Given the description of an element on the screen output the (x, y) to click on. 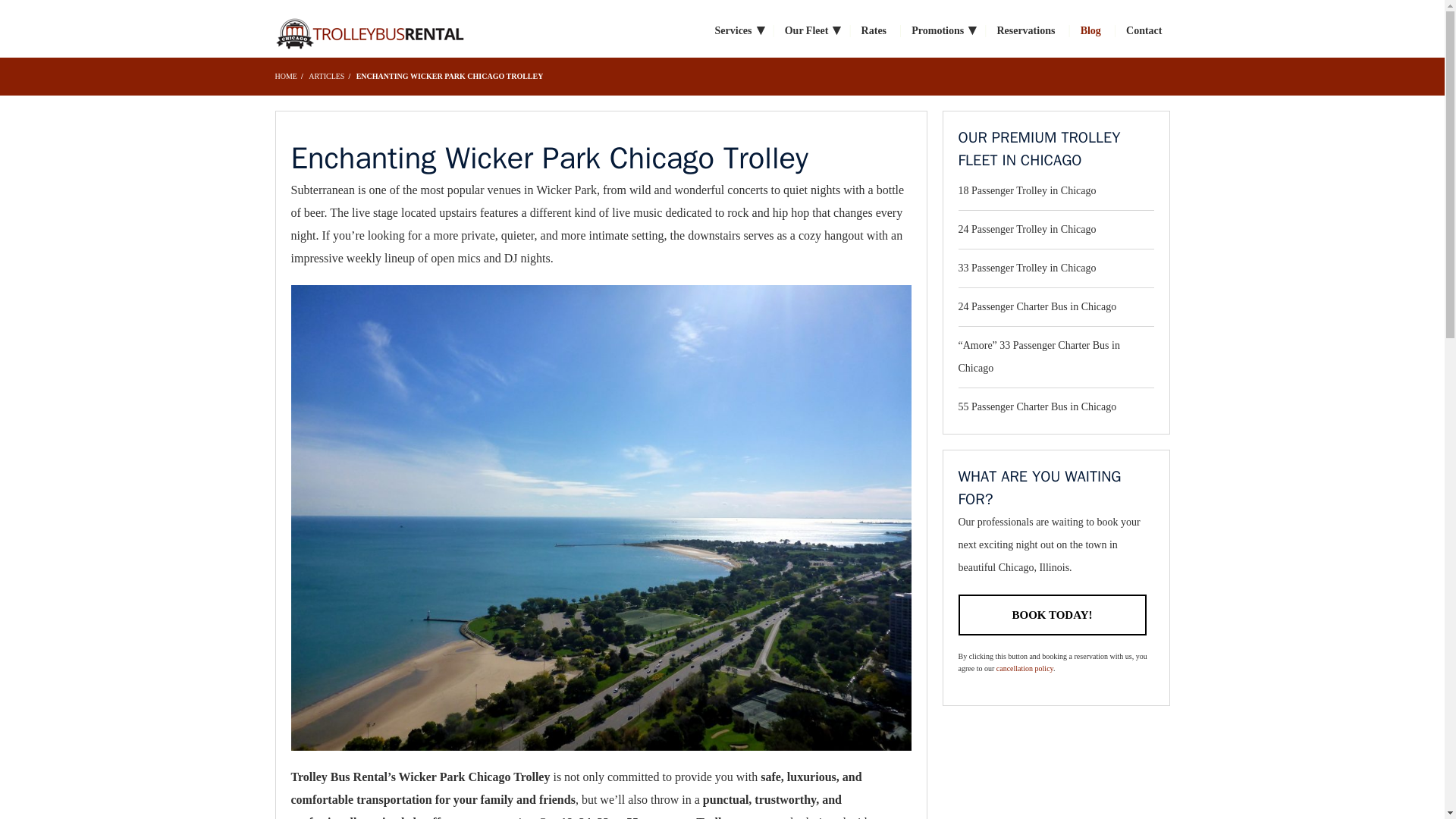
Our Fleet (809, 29)
Services (737, 29)
Trolley Rates Chicago (369, 31)
Promotions (941, 29)
Rates (873, 30)
